Given the description of an element on the screen output the (x, y) to click on. 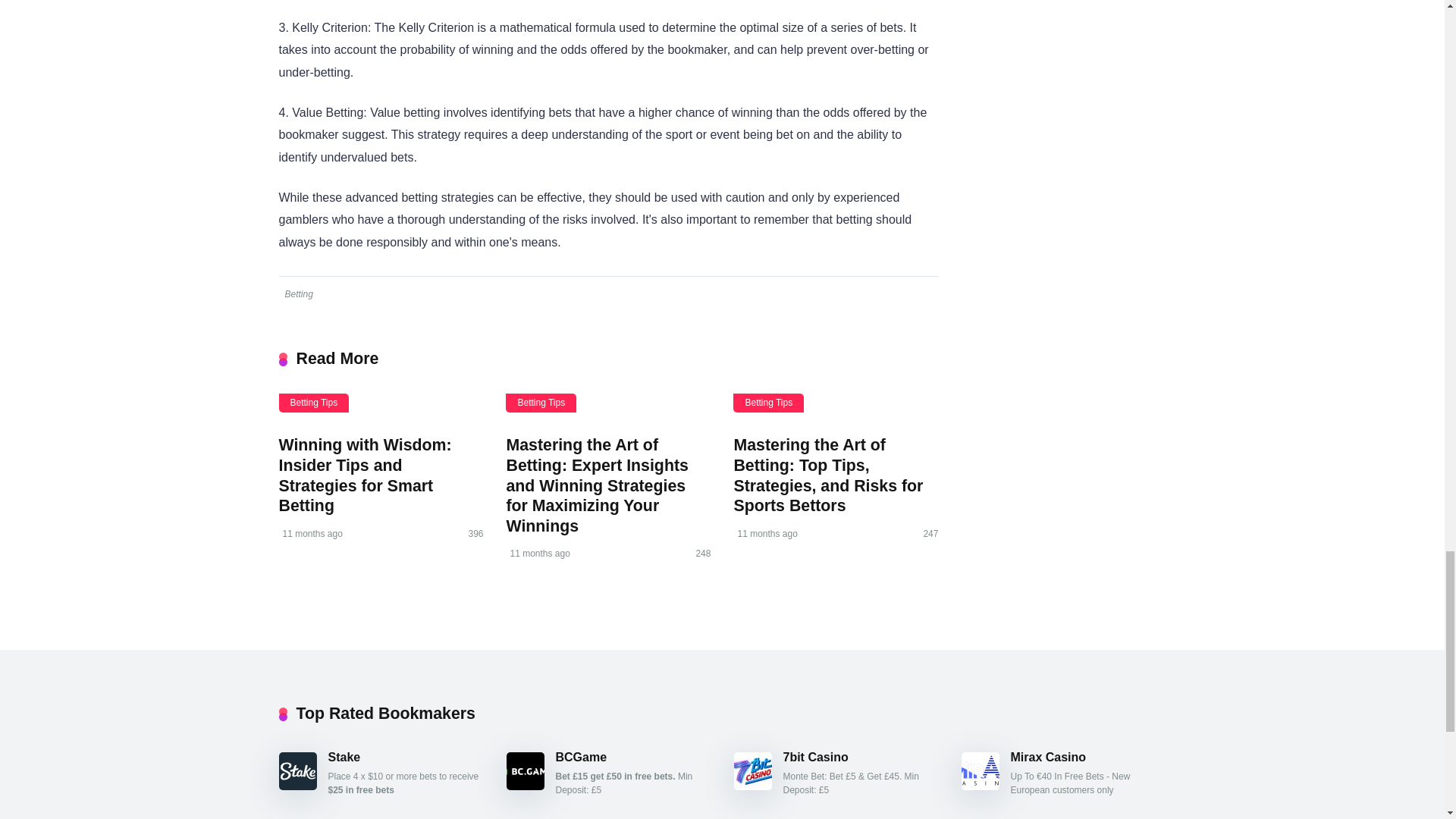
Betting Tips (314, 402)
Betting Tips (768, 402)
Betting (297, 294)
Betting Tips (540, 402)
